Given the description of an element on the screen output the (x, y) to click on. 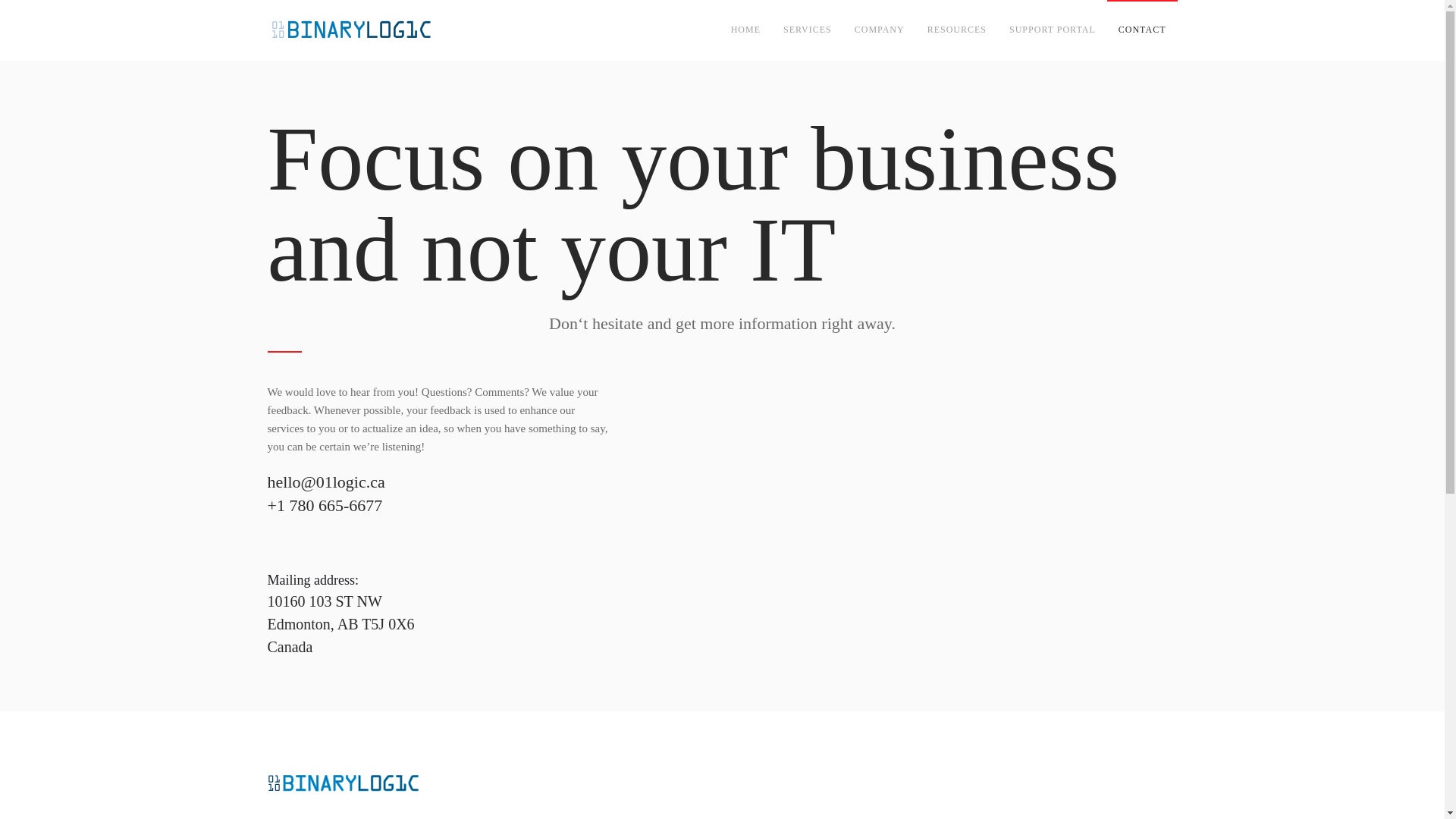
RESOURCES (956, 30)
SERVICES (807, 30)
COMPANY (879, 30)
CONTACT (1141, 30)
SUPPORT PORTAL (1051, 30)
Mailing address: (312, 580)
